Given the description of an element on the screen output the (x, y) to click on. 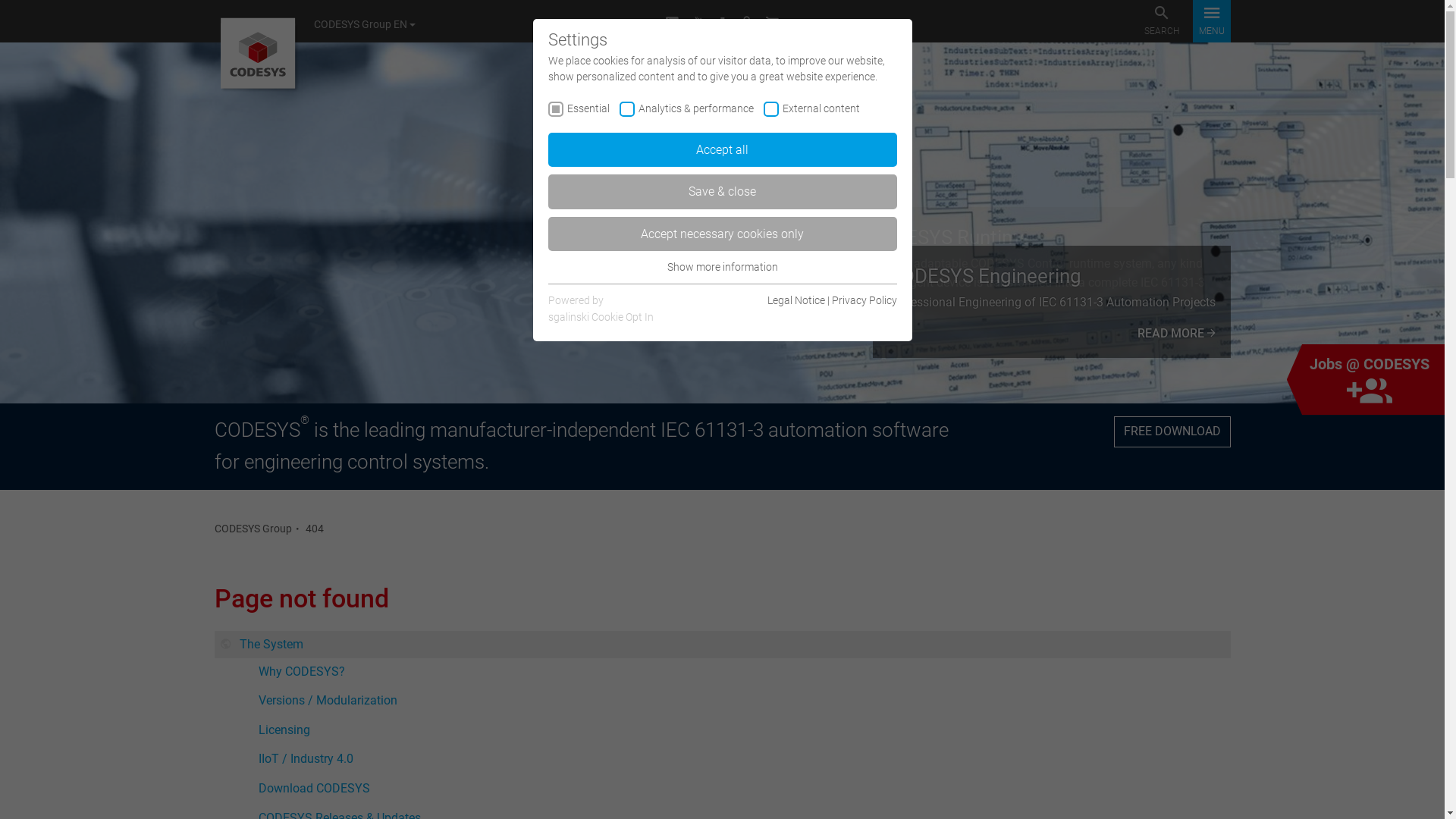
LINKEDIN Element type: text (671, 23)
Save & close Element type: text (721, 191)
Legal Notice Element type: text (796, 300)
  The System Element type: text (721, 644)
DOWNLOADS Element type: text (722, 23)
404 Element type: text (313, 528)
CODESYS Group EN Element type: text (368, 24)
  Why CODESYS? Element type: text (740, 671)
  Download CODESYS Element type: text (740, 788)
CODESYS STORE Element type: text (771, 23)
CODESYS Engineering Element type: hover (722, 222)
CUSTOMER PORTAL Element type: text (746, 23)
Accept necessary cookies only Element type: text (721, 233)
Privacy Policy Element type: text (863, 300)
  Versions / Modularization Element type: text (740, 700)
  Licensing Element type: text (740, 729)
  IIoT / Industry 4.0 Element type: text (740, 758)
Powered by
sgalinski Cookie Opt In Element type: text (599, 308)
FREE DOWNLOAD Element type: text (1171, 431)
Accept all Element type: text (721, 149)
Show more information Element type: text (722, 266)
Jobs @ CODESYS Element type: text (1373, 379)
YOUTUBE Element type: text (698, 23)
CODESYS Group Element type: text (252, 528)
